Given the description of an element on the screen output the (x, y) to click on. 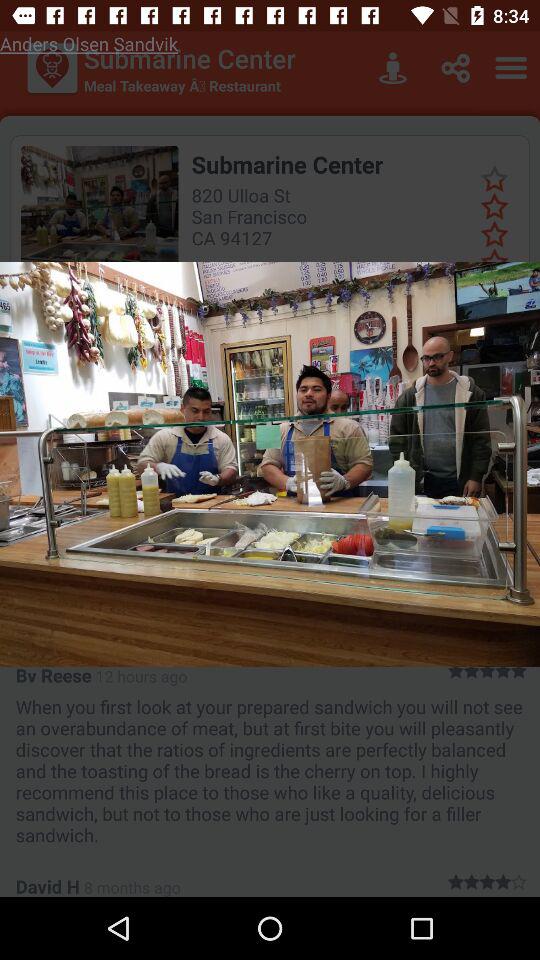
click anders olsen sandvik (89, 43)
